Given the description of an element on the screen output the (x, y) to click on. 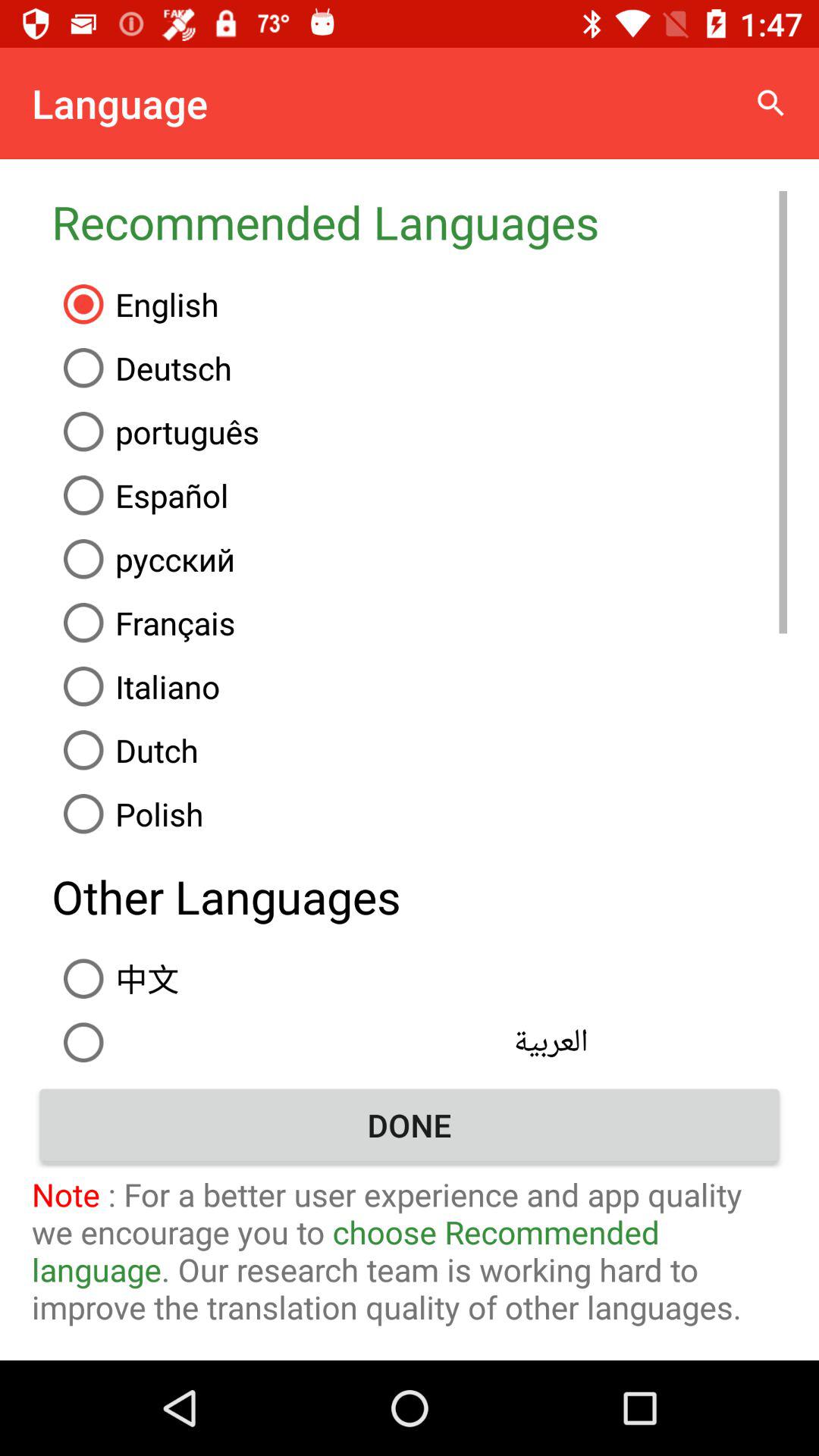
flip until italiano (419, 686)
